Given the description of an element on the screen output the (x, y) to click on. 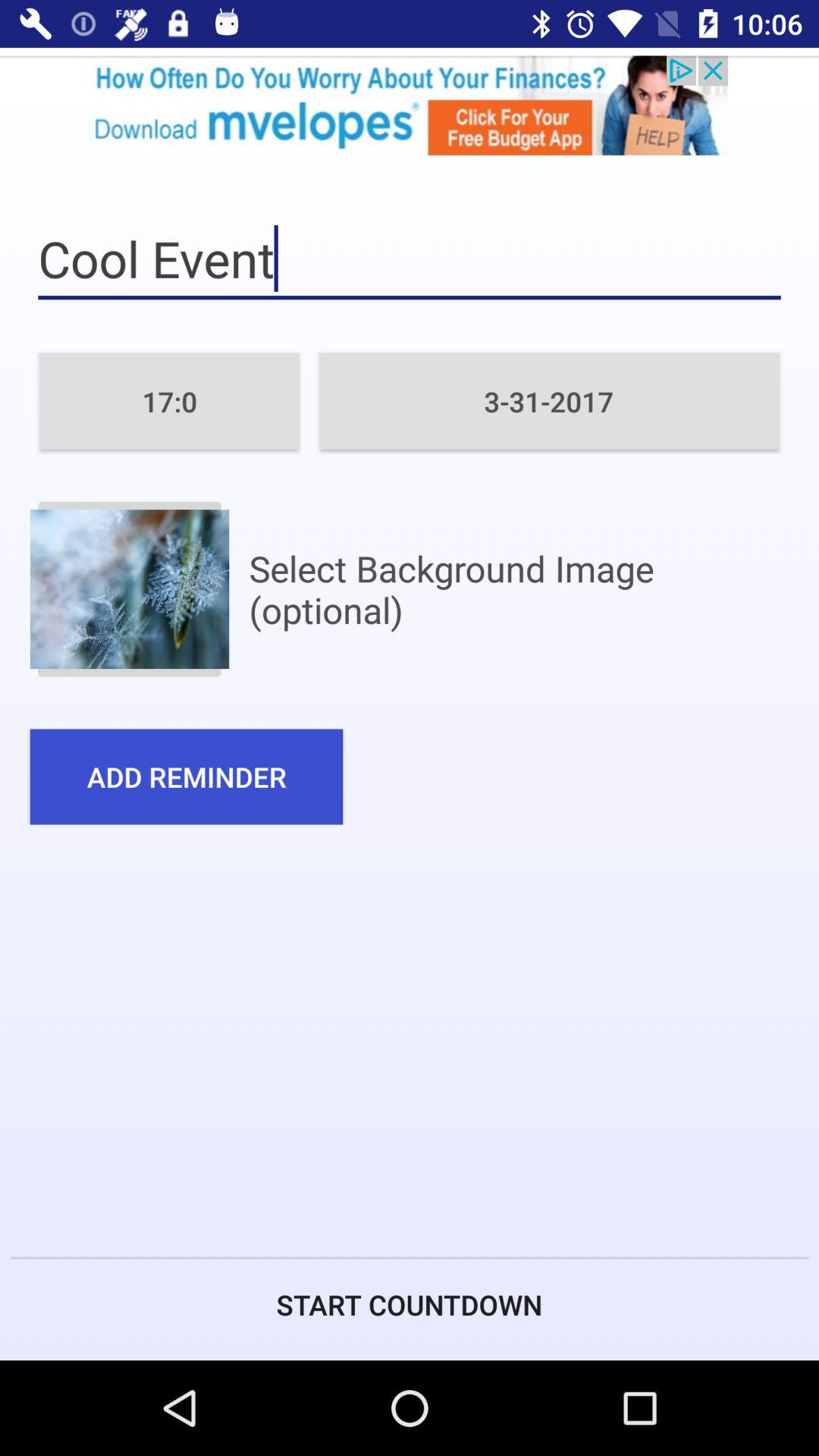
it is image which describes cool event (129, 588)
